Given the description of an element on the screen output the (x, y) to click on. 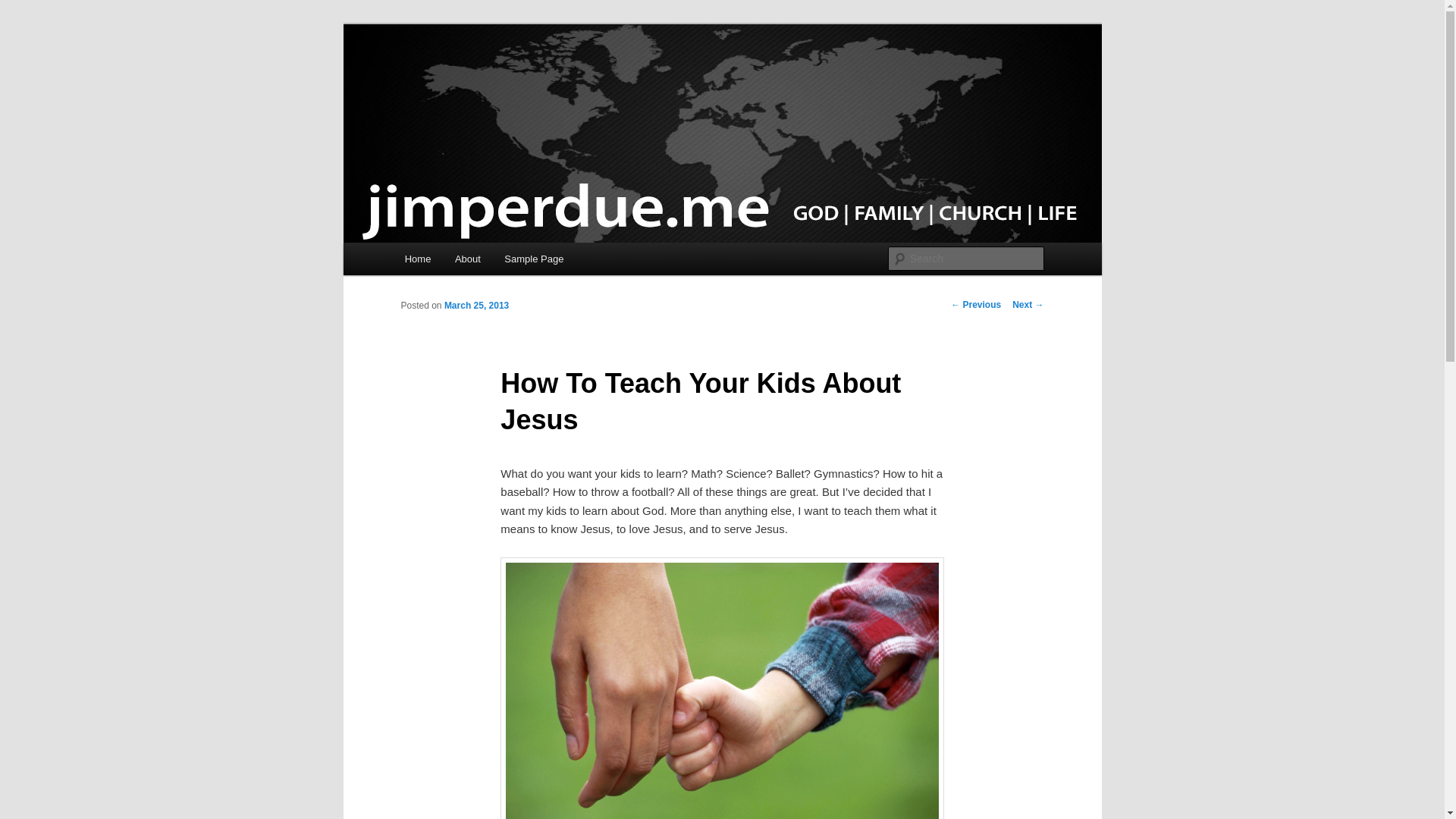
Sample Page (534, 258)
Pastor Jim Perdue (499, 78)
10:00 pm (476, 305)
Search (24, 8)
March 25, 2013 (476, 305)
About (467, 258)
Home (417, 258)
